Given the description of an element on the screen output the (x, y) to click on. 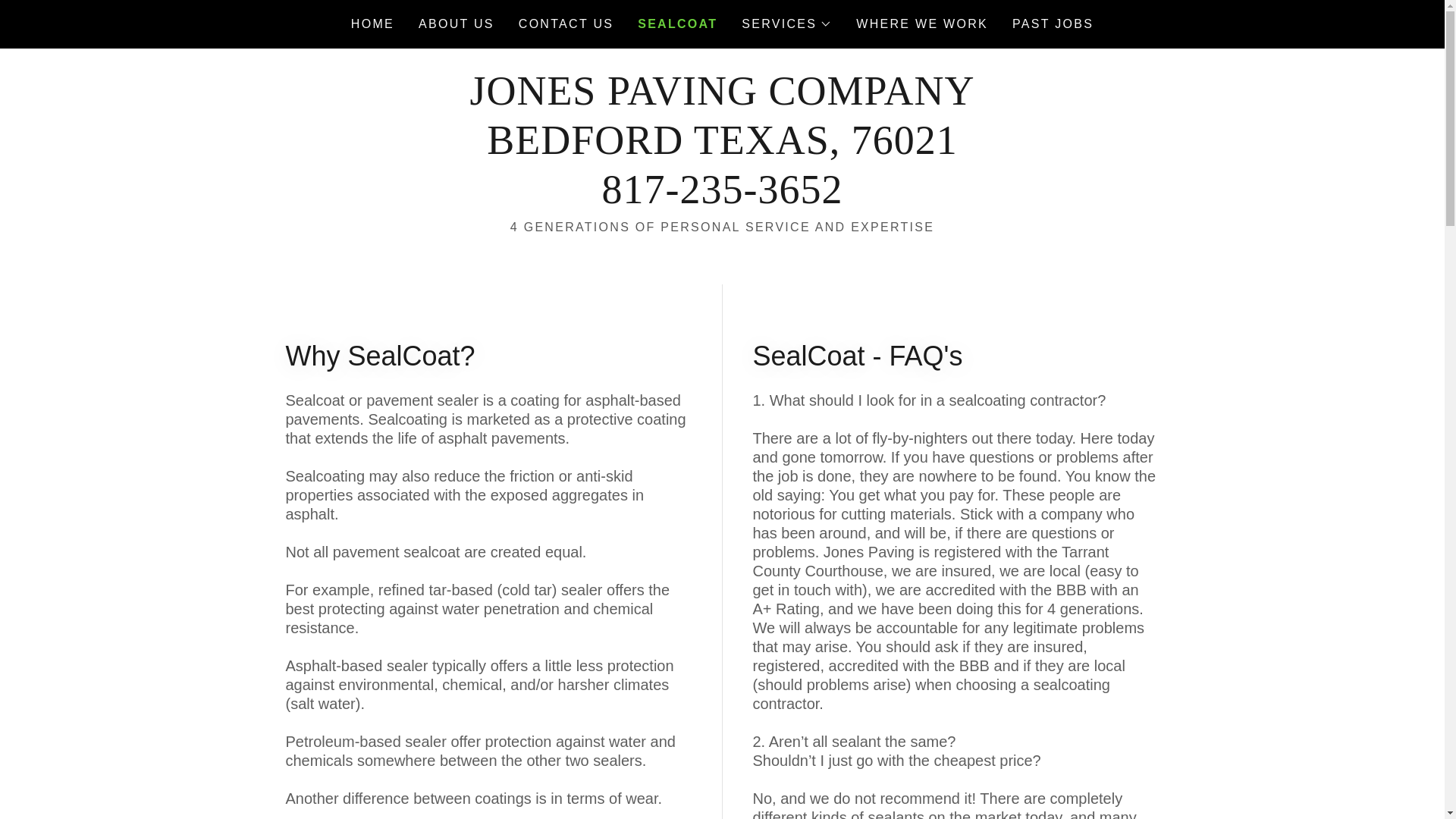
HOME (372, 23)
CONTACT US (565, 23)
SEALCOAT (677, 24)
WHERE WE WORK (721, 198)
PAST JOBS (921, 23)
SERVICES (1052, 23)
ABOUT US (786, 24)
